Given the description of an element on the screen output the (x, y) to click on. 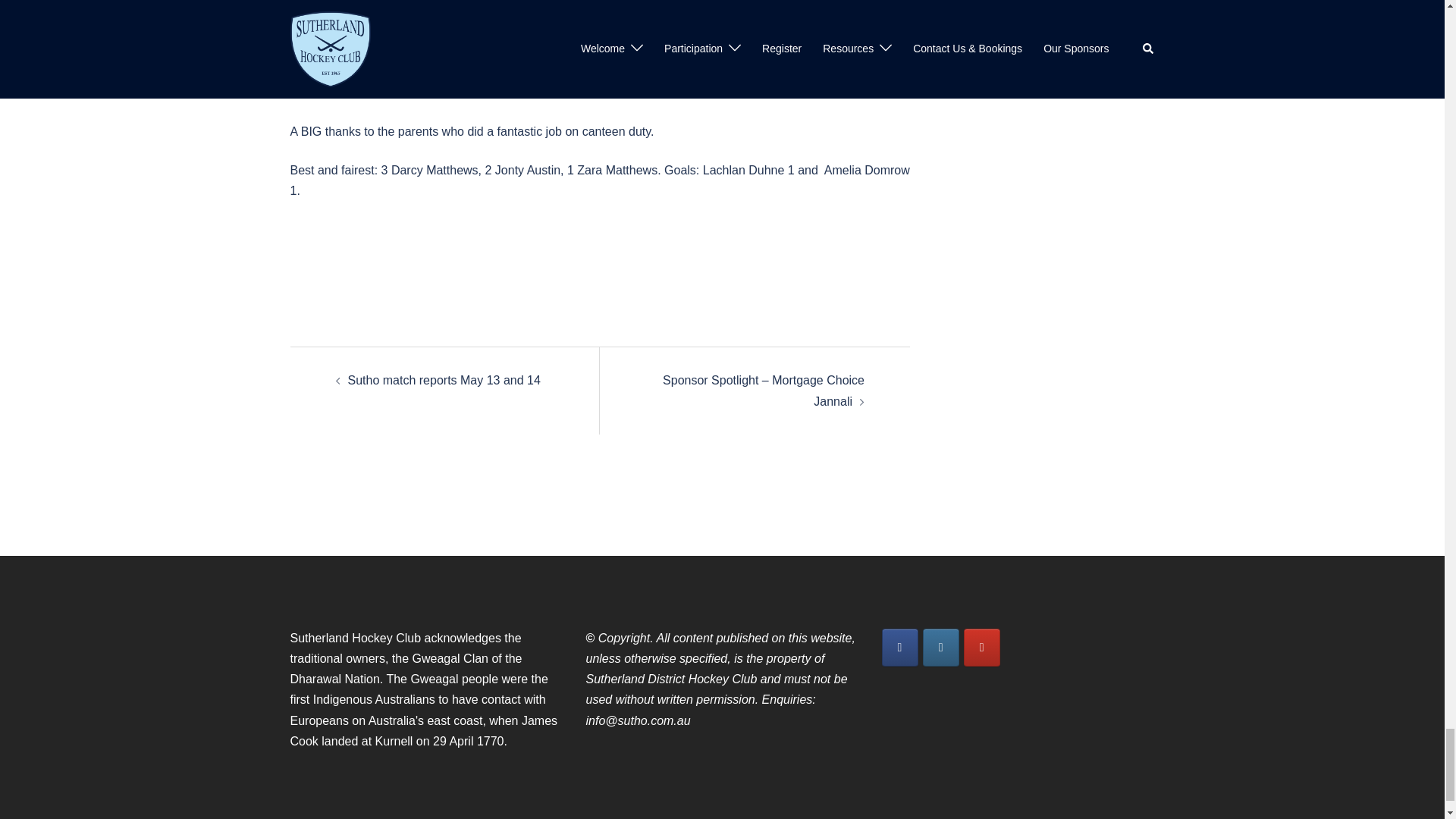
Sutherland Hockey Club on Facebook (898, 647)
Sutherland Hockey Club on Instagram (941, 647)
Sutherland Hockey Club on Youtube (981, 647)
